Given the description of an element on the screen output the (x, y) to click on. 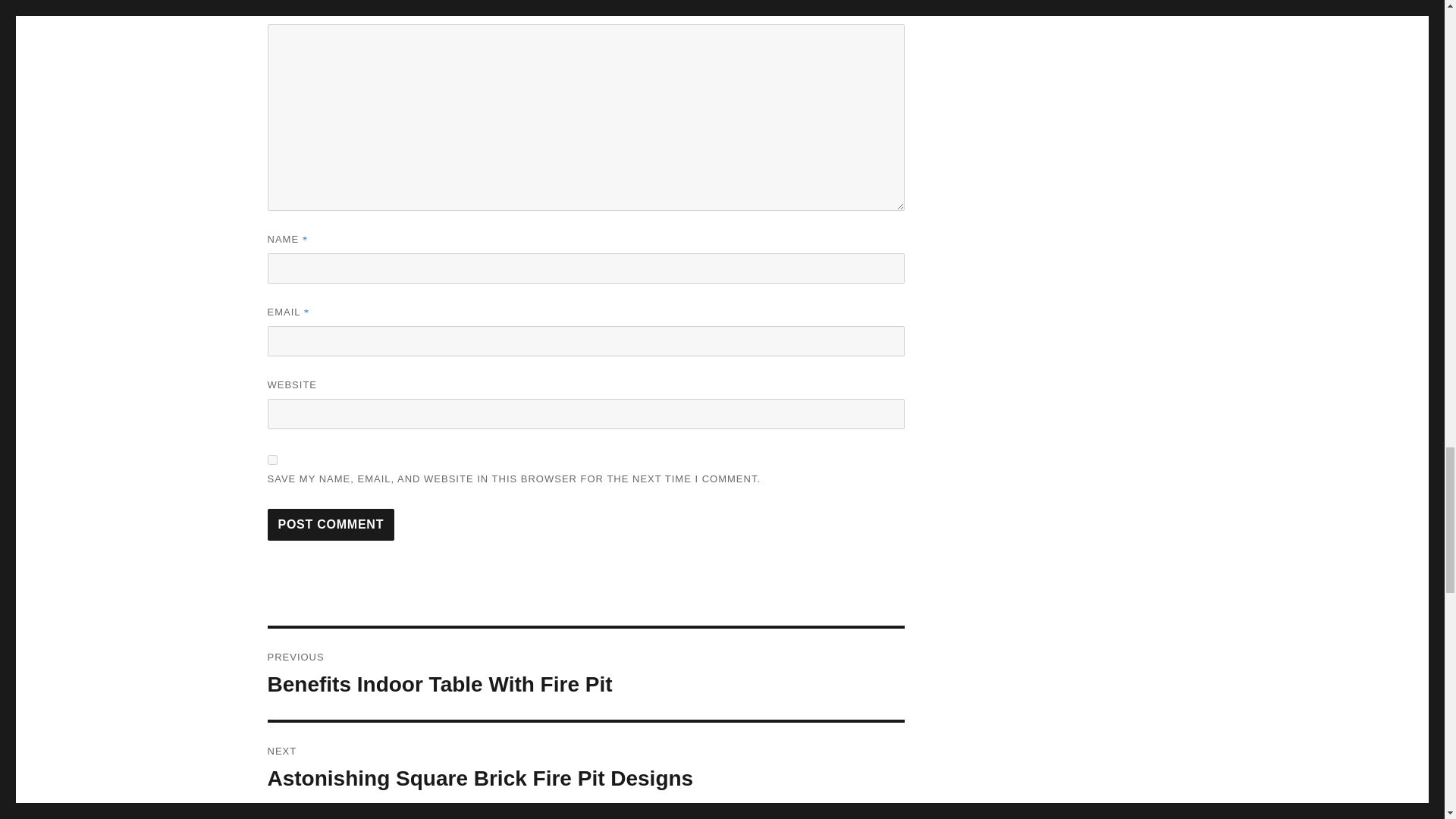
yes (271, 460)
Post Comment (330, 524)
